Given the description of an element on the screen output the (x, y) to click on. 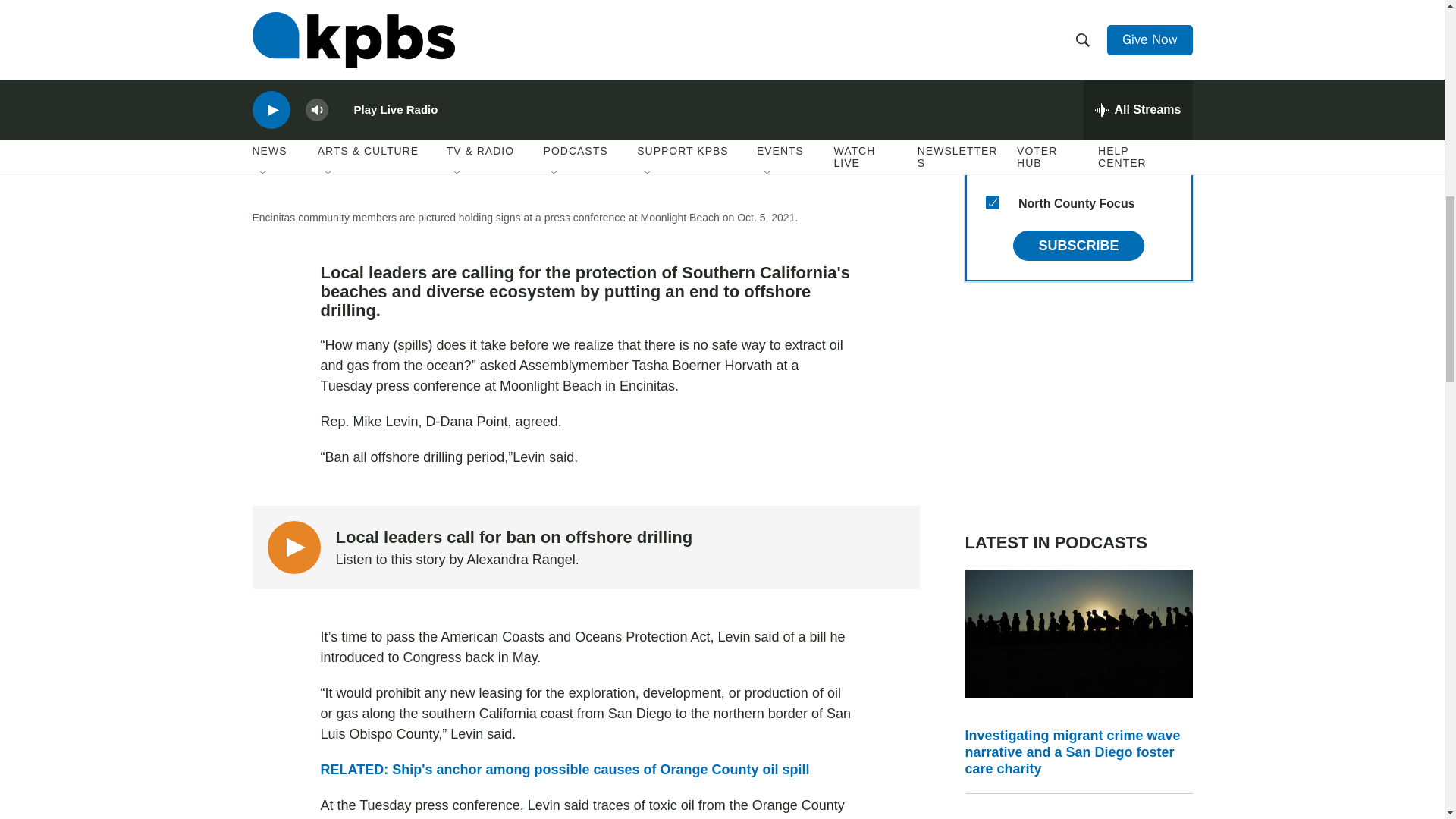
15 (991, 202)
2 (991, 92)
1 (991, 129)
6 (991, 56)
5 (991, 20)
8 (991, 165)
